Given the description of an element on the screen output the (x, y) to click on. 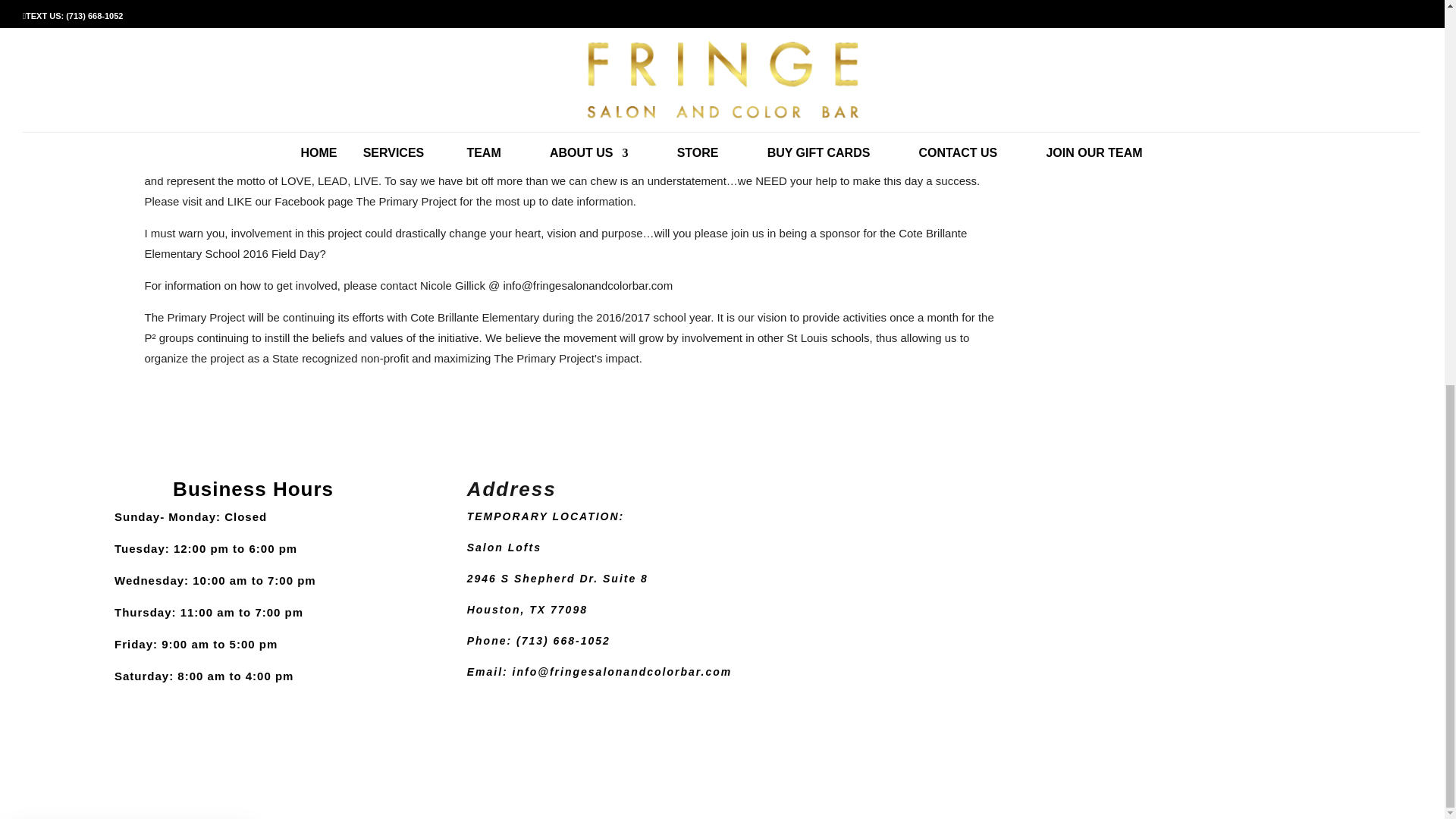
True Notifications (132, 142)
